Given the description of an element on the screen output the (x, y) to click on. 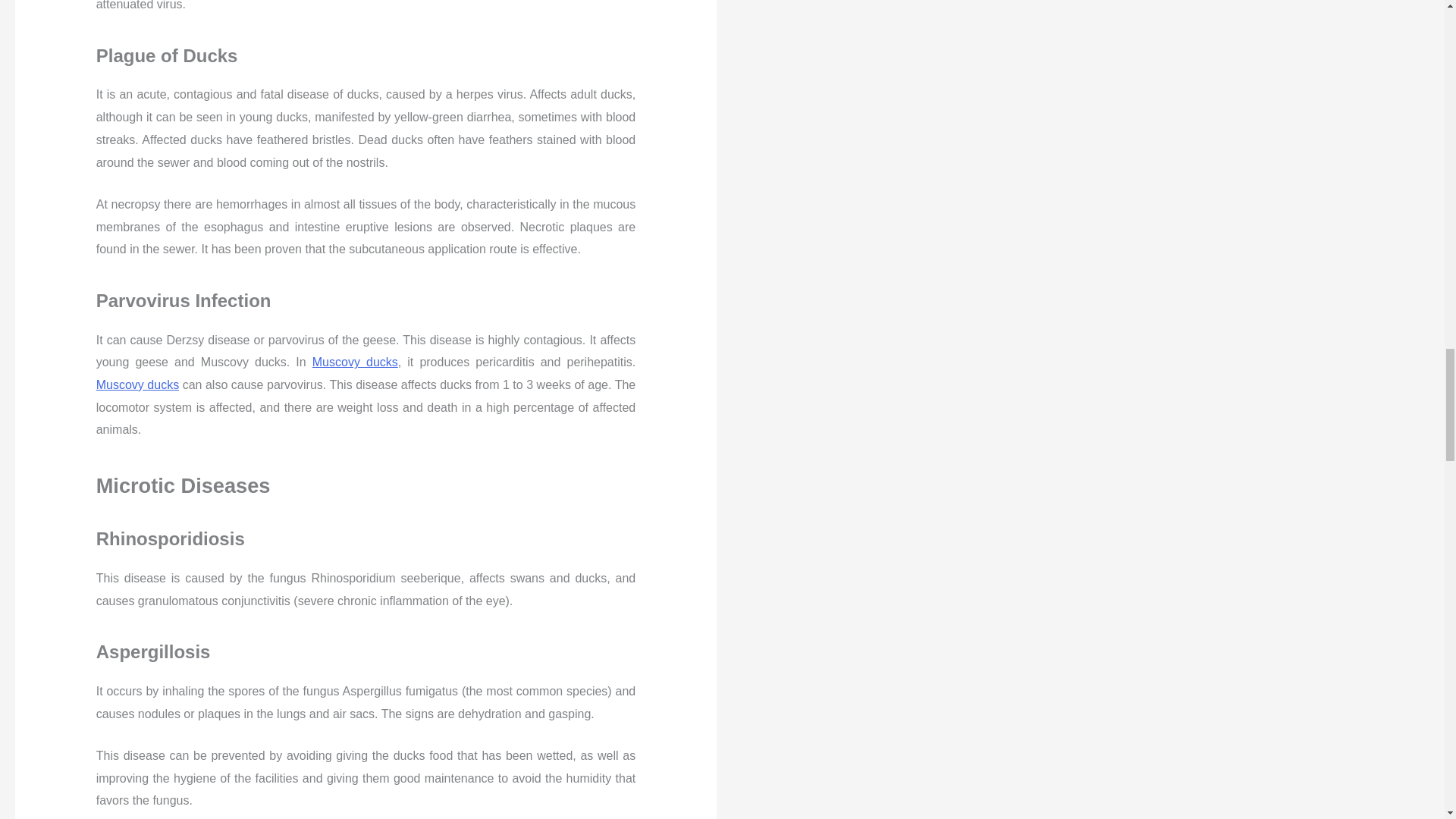
Muscovy ducks (137, 384)
Muscovy ducks (355, 361)
